Given the description of an element on the screen output the (x, y) to click on. 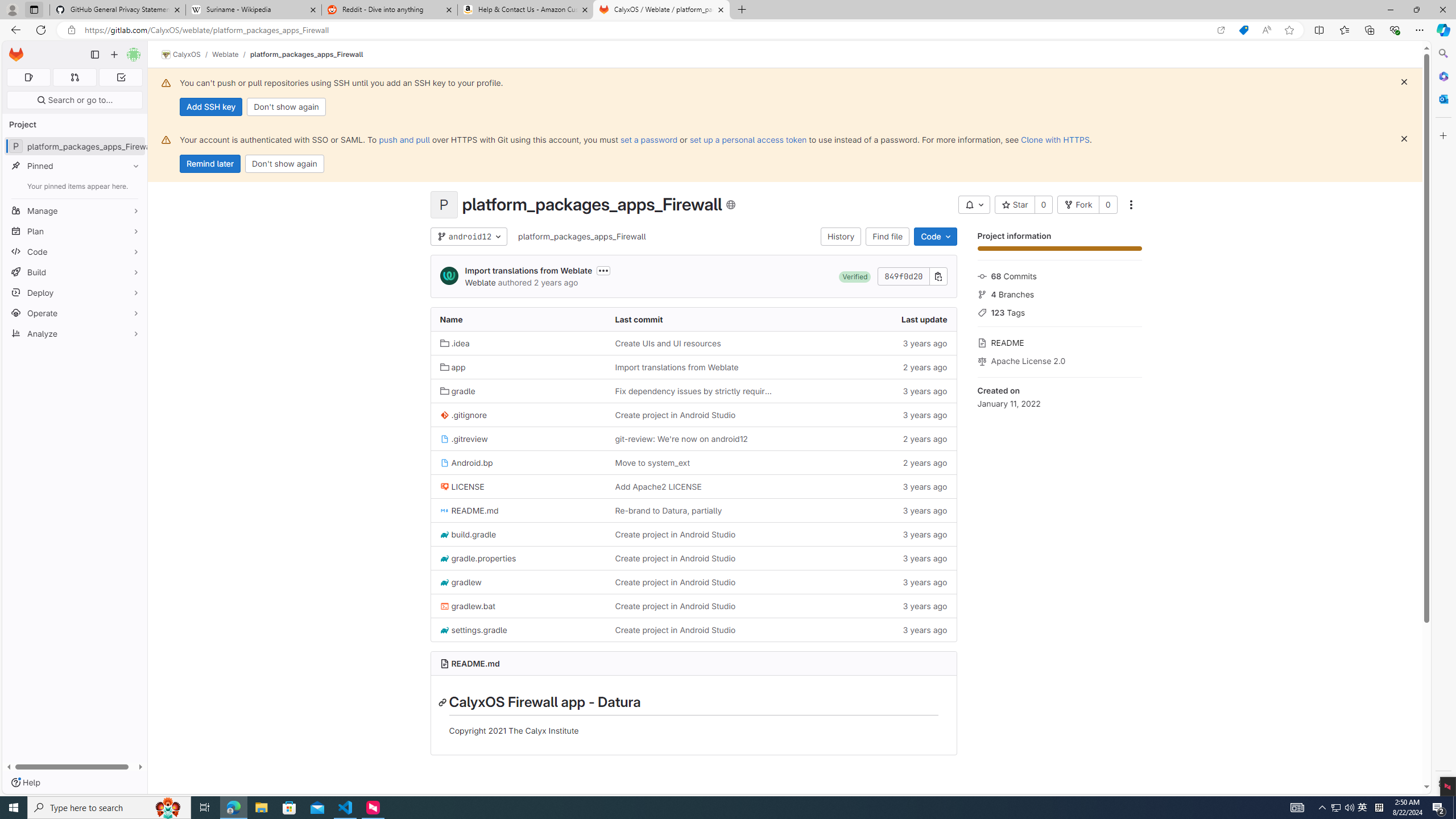
platform_packages_apps_Firewall (582, 236)
Assigned issues 0 (28, 76)
gradle.properties (517, 558)
Import translations from Weblate (676, 367)
settings.gradle (472, 629)
4 Branches (1058, 293)
Remind later (210, 163)
Toggle commit description (603, 270)
Pplatform_packages_apps_Firewall (74, 145)
Dismiss (1403, 138)
Class: tree-item (693, 629)
123 Tags (1058, 311)
LICENSE (517, 486)
Name (517, 319)
Suriname - Wikipedia (253, 9)
